Given the description of an element on the screen output the (x, y) to click on. 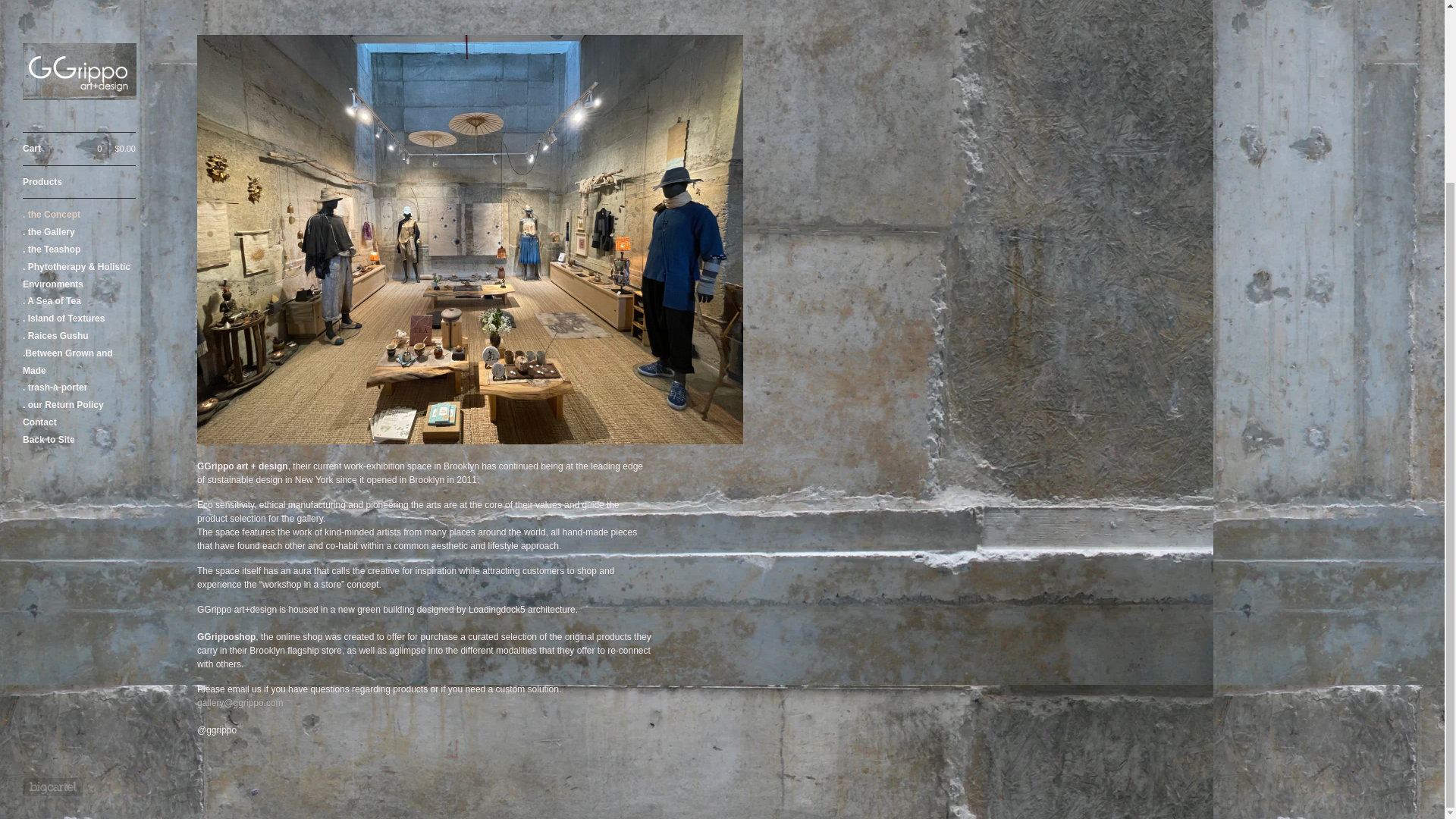
. Raices Gushu (79, 110)
. the Teashop (79, 24)
. our Return Policy (79, 180)
. A Sea of Tea (79, 76)
. the Gallery (79, 7)
Back to Site (79, 214)
Powered by Big Cartel (52, 561)
.Between Grown and Made (79, 136)
. Island of Textures (79, 93)
Contact (79, 197)
